Given the description of an element on the screen output the (x, y) to click on. 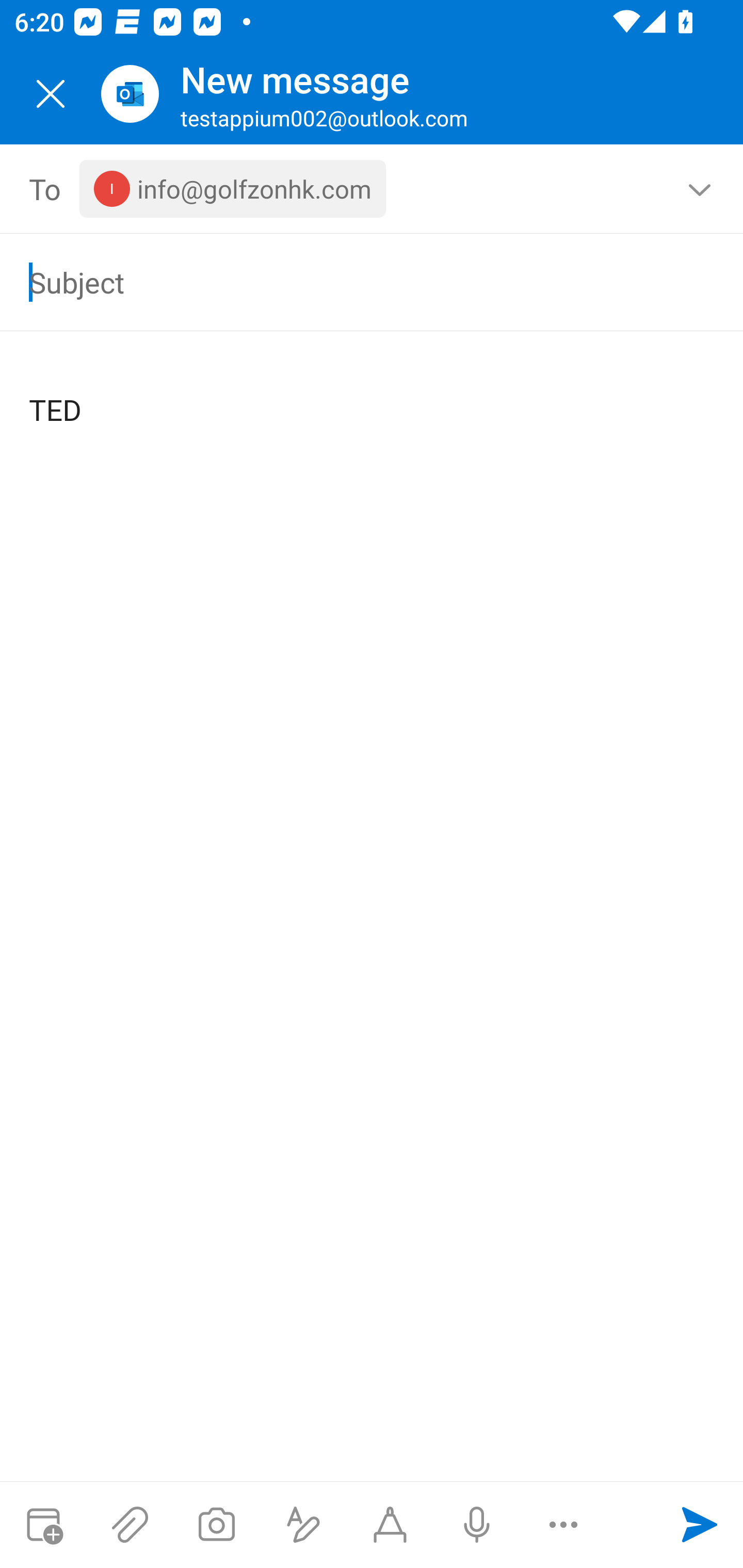
Close (50, 93)
Subject (342, 281)

TED (372, 394)
Attach meeting (43, 1524)
Attach files (129, 1524)
Take a photo (216, 1524)
Show formatting options (303, 1524)
Start Ink compose (389, 1524)
Dictation (476, 1524)
More options (563, 1524)
Send (699, 1524)
